Given the description of an element on the screen output the (x, y) to click on. 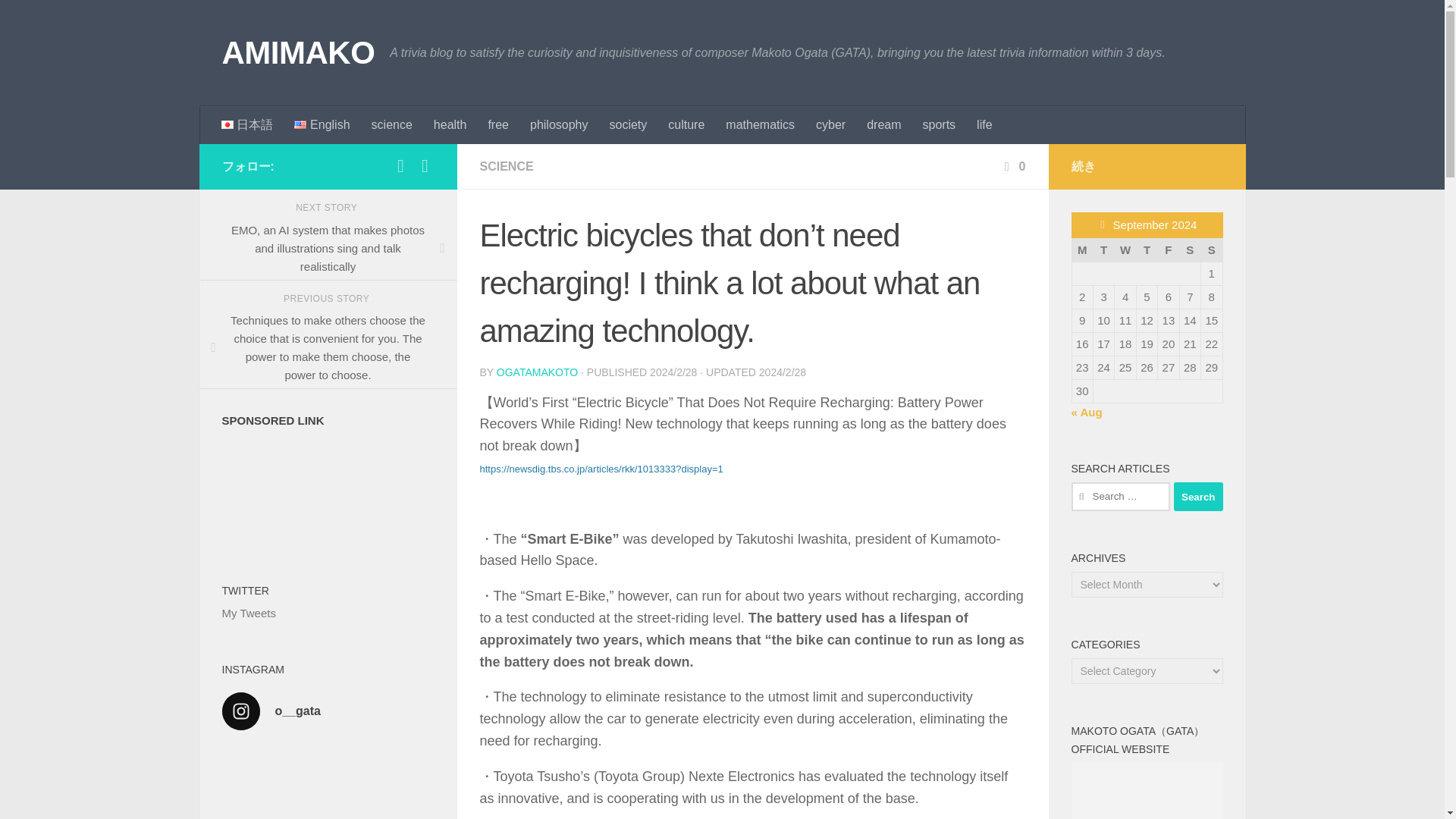
0 (1013, 165)
health (450, 125)
dream (883, 125)
English (321, 125)
Skip to content (63, 20)
free (498, 125)
Search (1198, 496)
AMIMAKO (297, 53)
science (392, 125)
mathematics (759, 125)
